Given the description of an element on the screen output the (x, y) to click on. 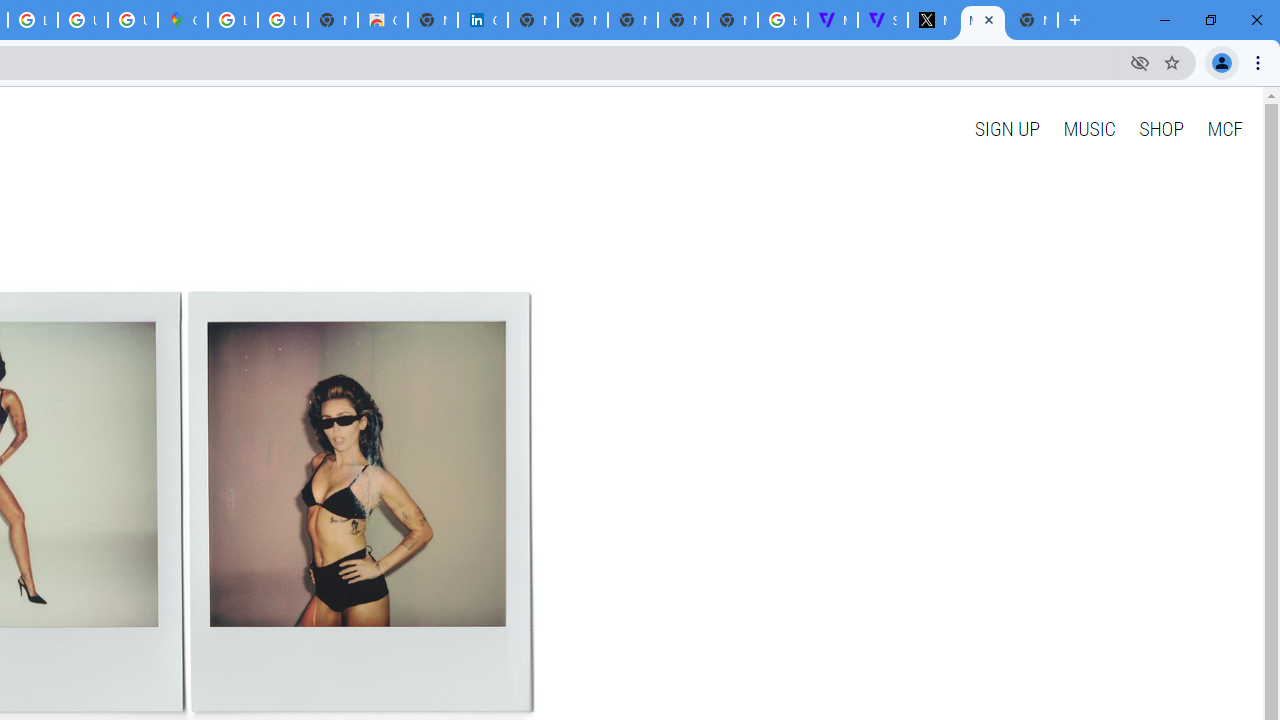
Streaming - The Verge (882, 20)
Cookie Policy | LinkedIn (483, 20)
SHOP (1161, 128)
Google Maps (182, 20)
MUSIC (1089, 128)
New Tab (1032, 20)
